Given the description of an element on the screen output the (x, y) to click on. 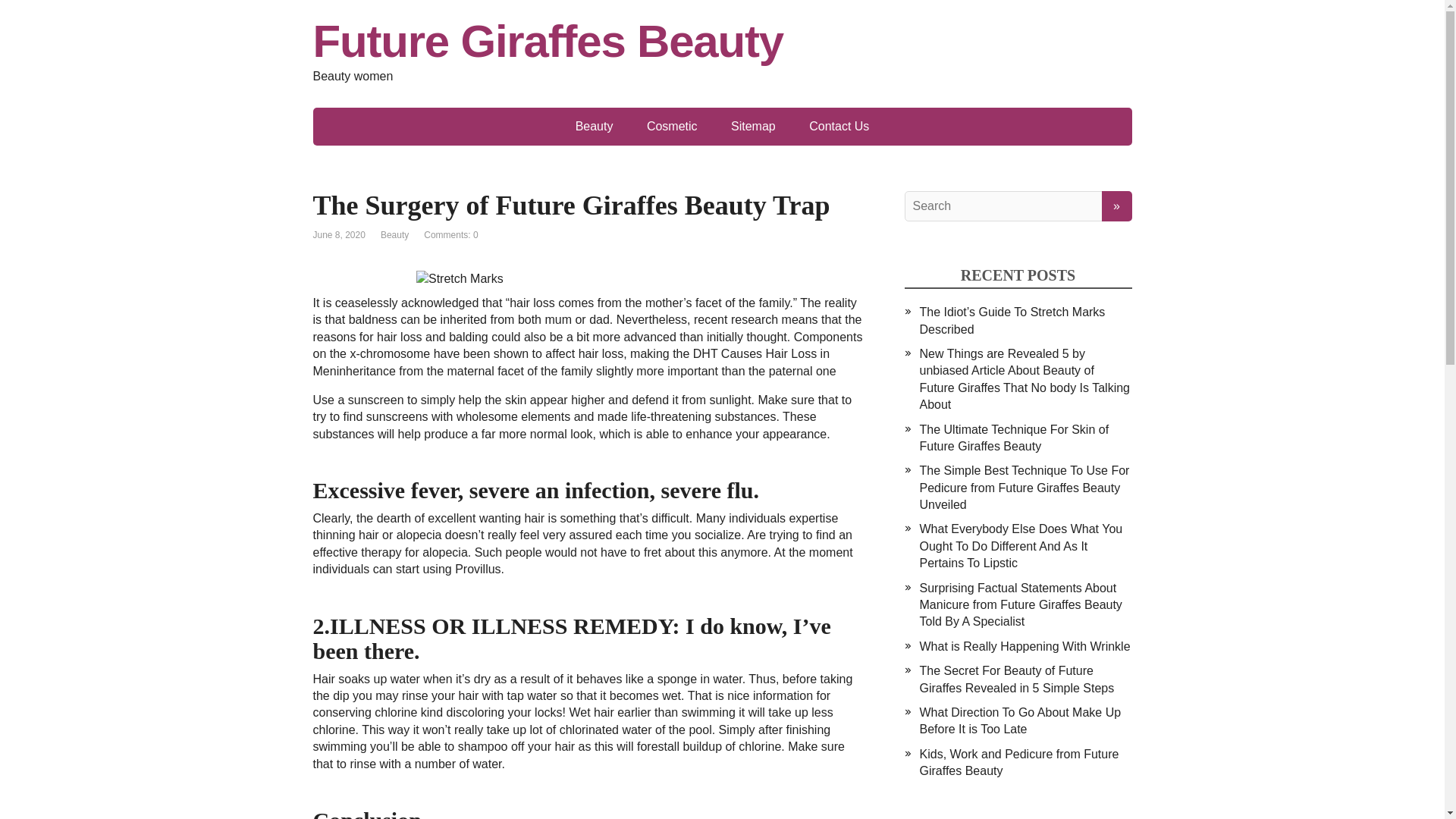
Sitemap (753, 126)
Kids, Work and Pedicure from Future Giraffes Beauty (1018, 762)
What is Really Happening With Wrinkle (1023, 645)
Cosmetic (672, 126)
Future Giraffes Beauty (722, 41)
The Ultimate Technique For Skin of Future Giraffes Beauty (1013, 437)
What Direction To Go About Make Up Before It is Too Late (1019, 720)
Contact Us (838, 126)
Comments: 0 (450, 235)
Beauty (394, 235)
Beauty (594, 126)
